Given the description of an element on the screen output the (x, y) to click on. 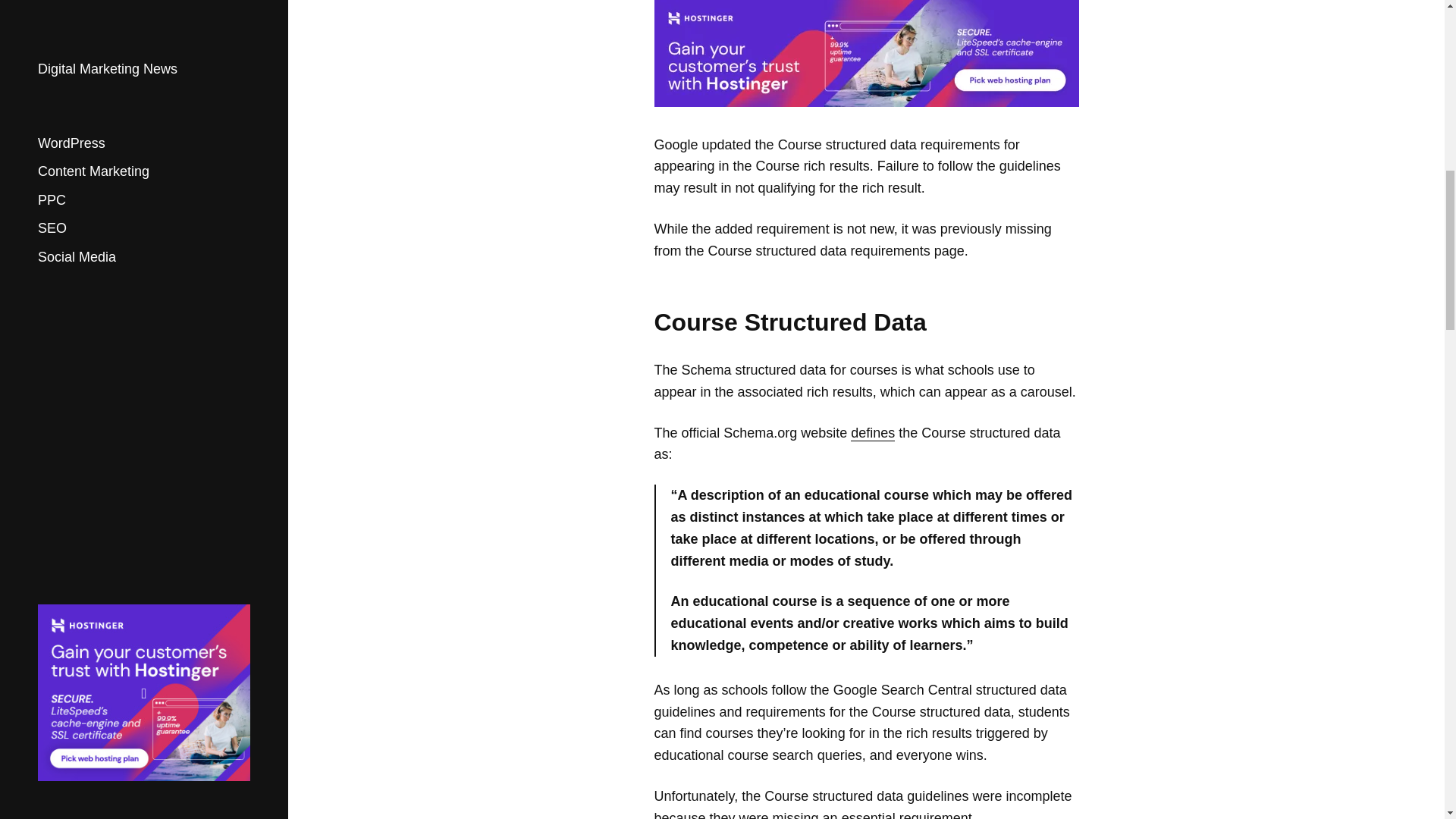
defines (872, 433)
